Given the description of an element on the screen output the (x, y) to click on. 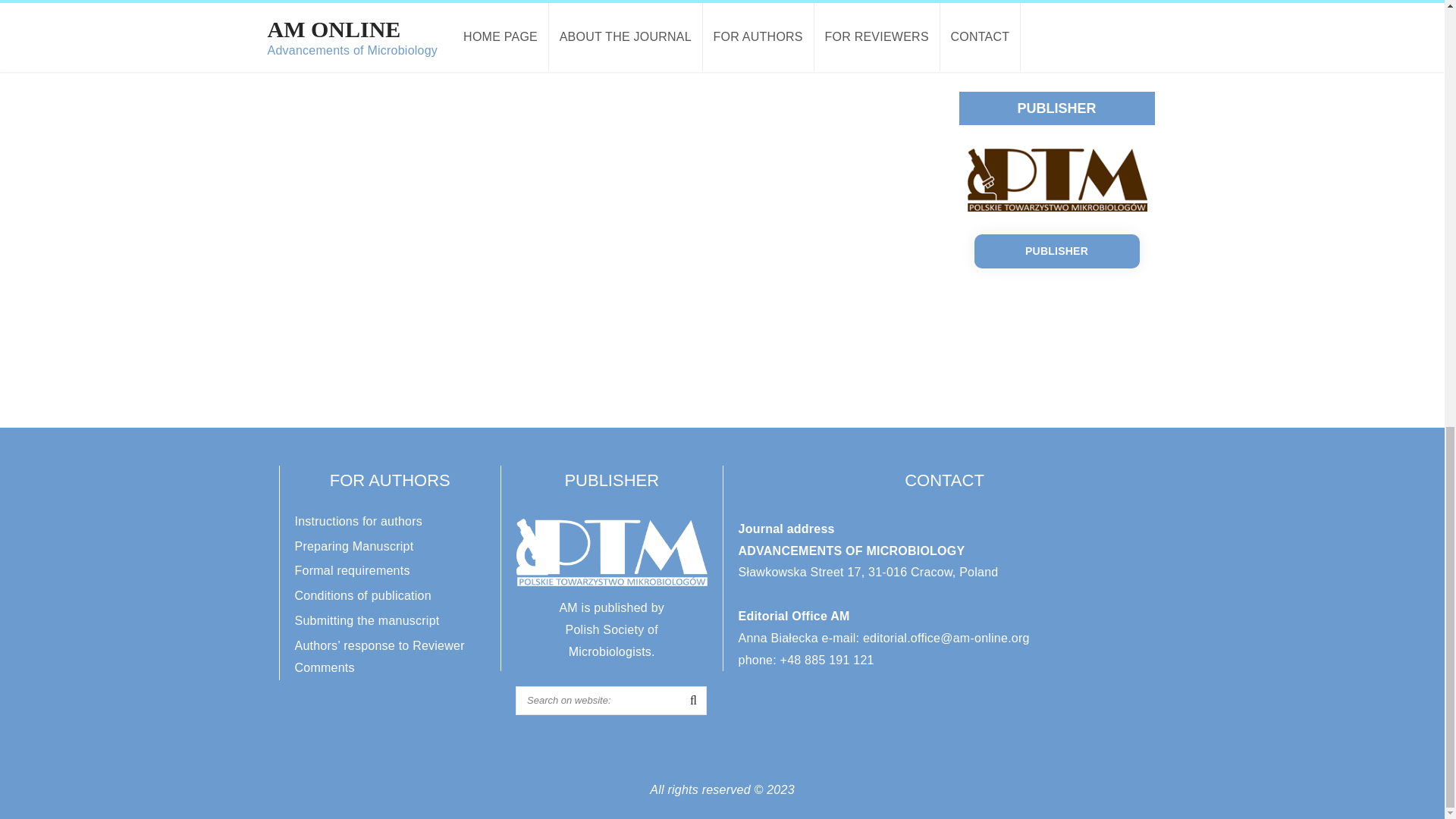
Open Access Agreement form (1041, 19)
Szukaj na stronie: (610, 700)
